Given the description of an element on the screen output the (x, y) to click on. 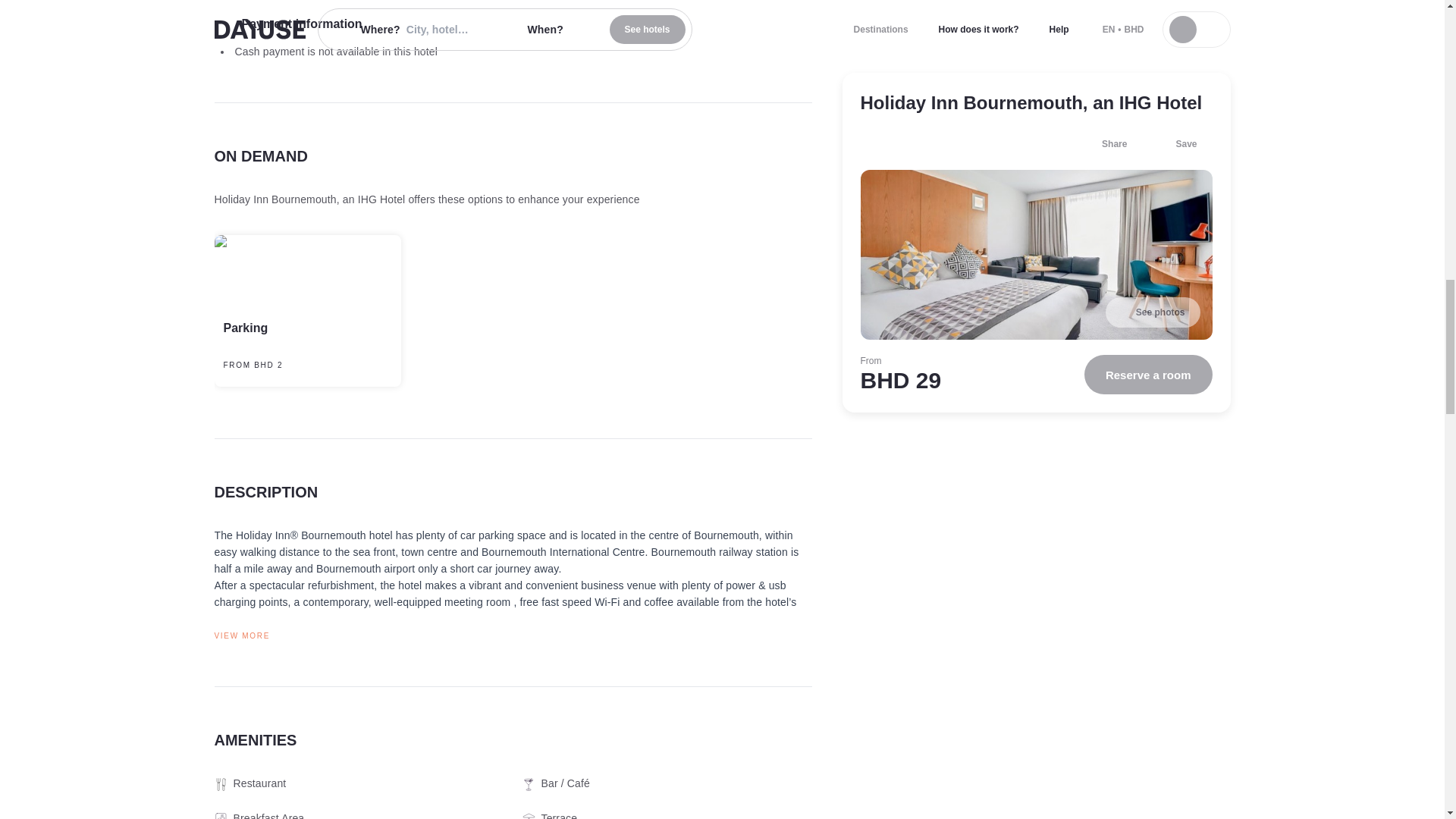
VIEW MORE (512, 635)
FROM BHD 2 (264, 365)
